Given the description of an element on the screen output the (x, y) to click on. 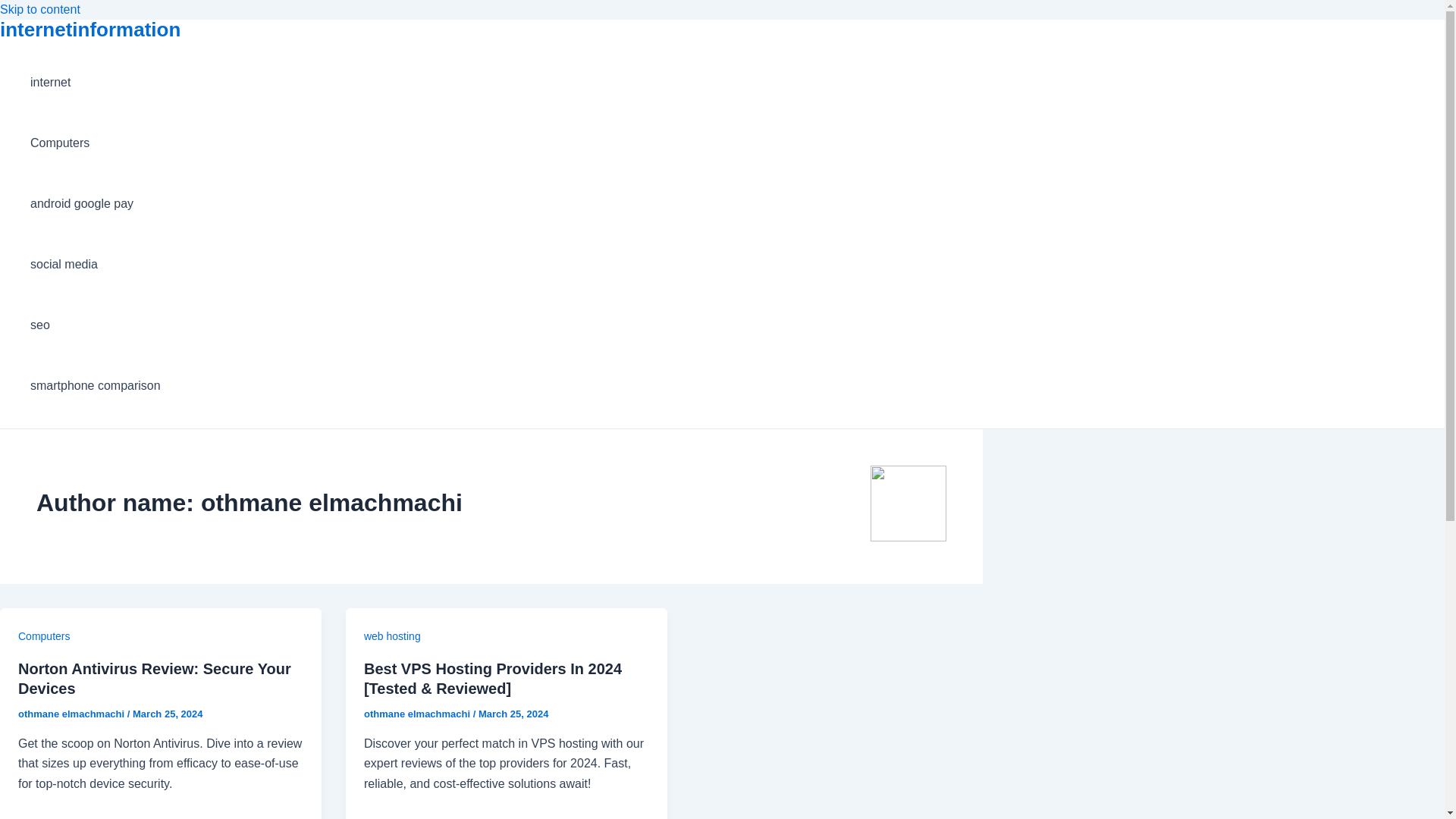
social media (95, 264)
Norton Antivirus Review: Secure Your Devices (154, 678)
Skip to content (40, 9)
othmane elmachmachi (72, 713)
Computers (43, 635)
Skip to content (40, 9)
View all posts by othmane elmachmachi (418, 713)
internet (95, 82)
smartphone comparison (95, 385)
othmane elmachmachi (418, 713)
seo (95, 324)
Computers (95, 143)
web hosting (392, 635)
internetinformation (90, 29)
View all posts by othmane elmachmachi (72, 713)
